Given the description of an element on the screen output the (x, y) to click on. 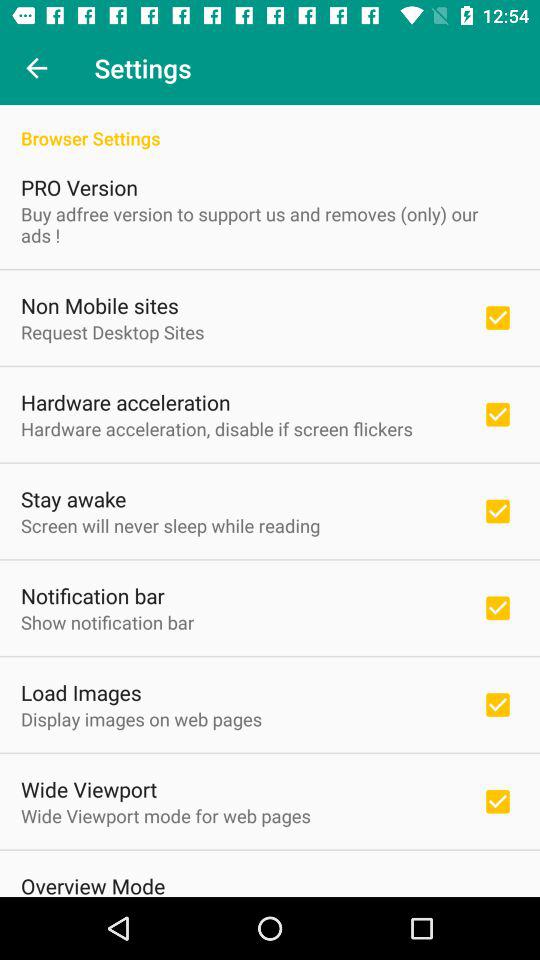
press request desktop sites item (112, 331)
